Given the description of an element on the screen output the (x, y) to click on. 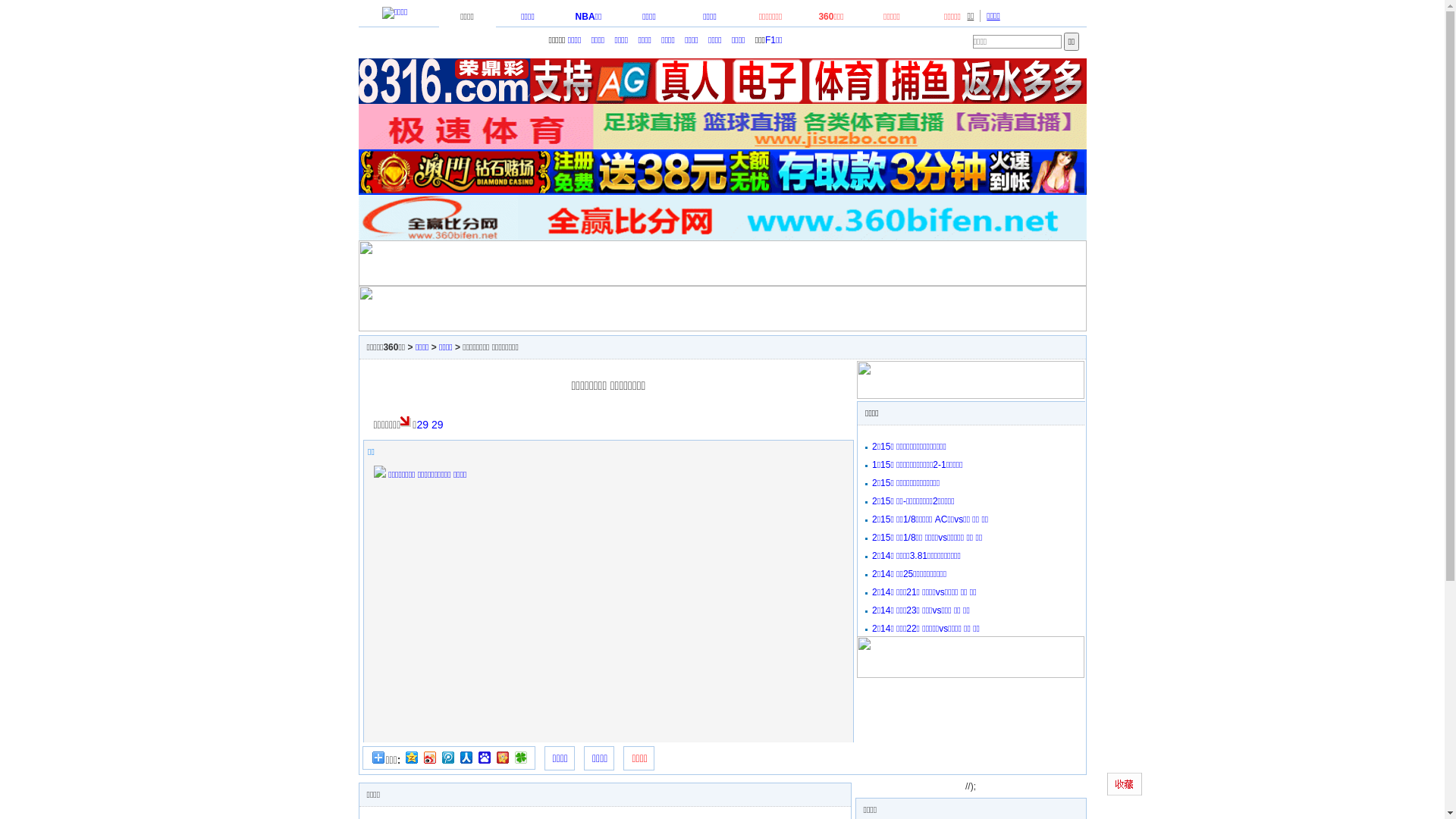
29 Element type: text (422, 424)
29 Element type: text (437, 424)
